Given the description of an element on the screen output the (x, y) to click on. 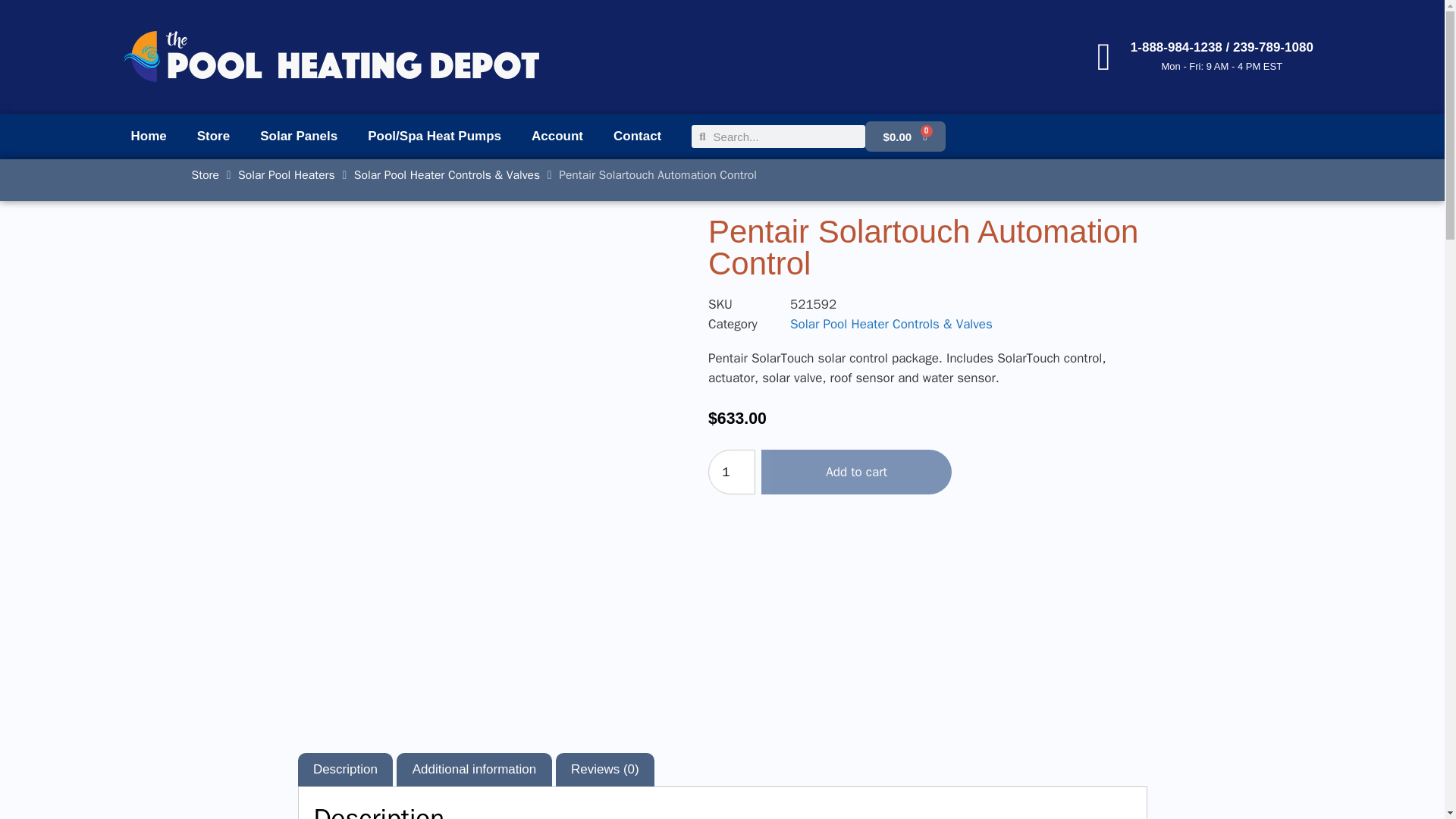
1-888-984-1238 (1177, 47)
Contact (637, 135)
239-789-1080 (1273, 47)
Store (213, 135)
1 (731, 471)
Solar Panels (298, 135)
Account (557, 135)
Home (147, 135)
